Given the description of an element on the screen output the (x, y) to click on. 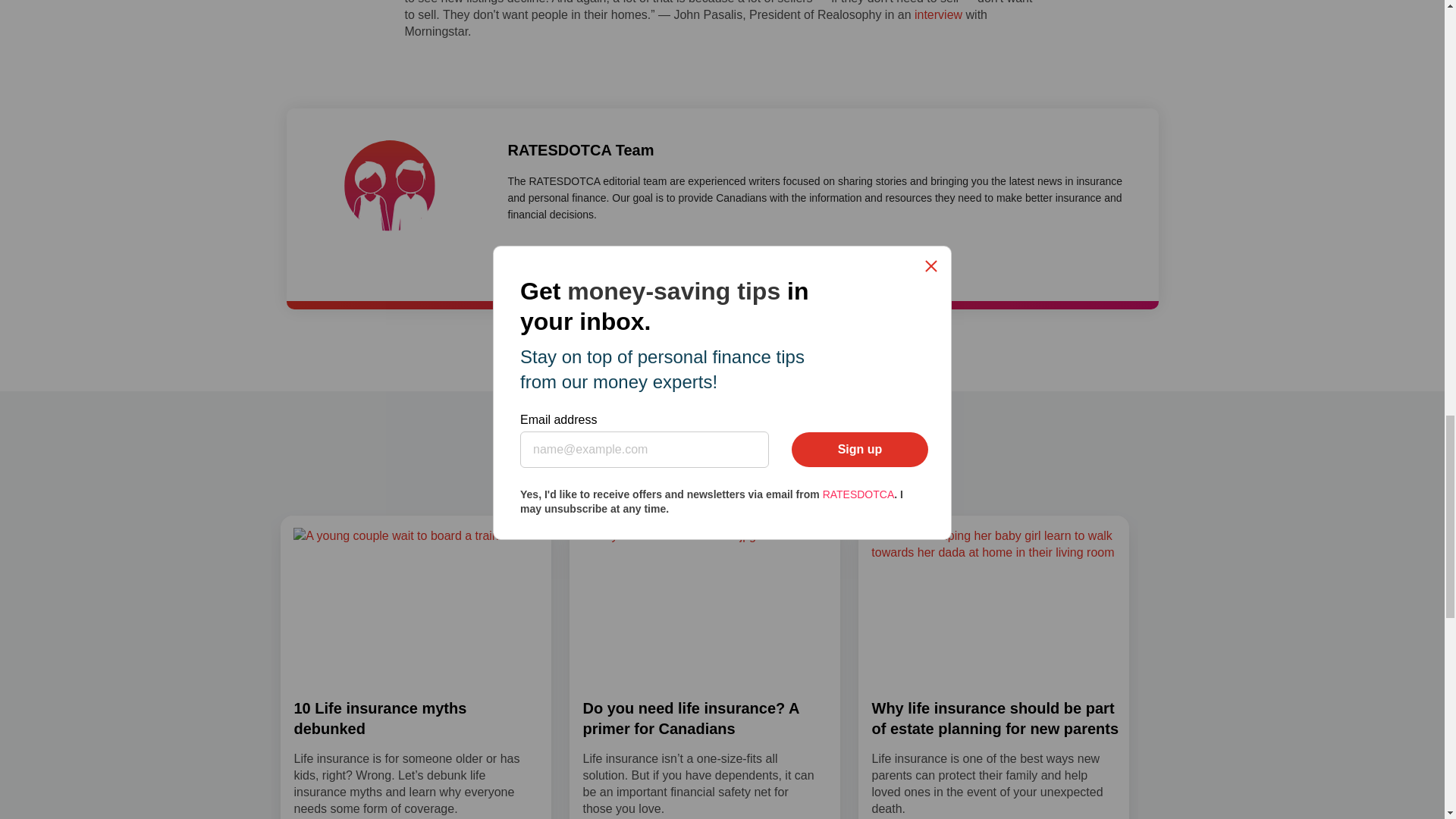
10 Life insurance myths debunked (380, 719)
Do you need life insurance? A primer for Canadians (689, 719)
